Given the description of an element on the screen output the (x, y) to click on. 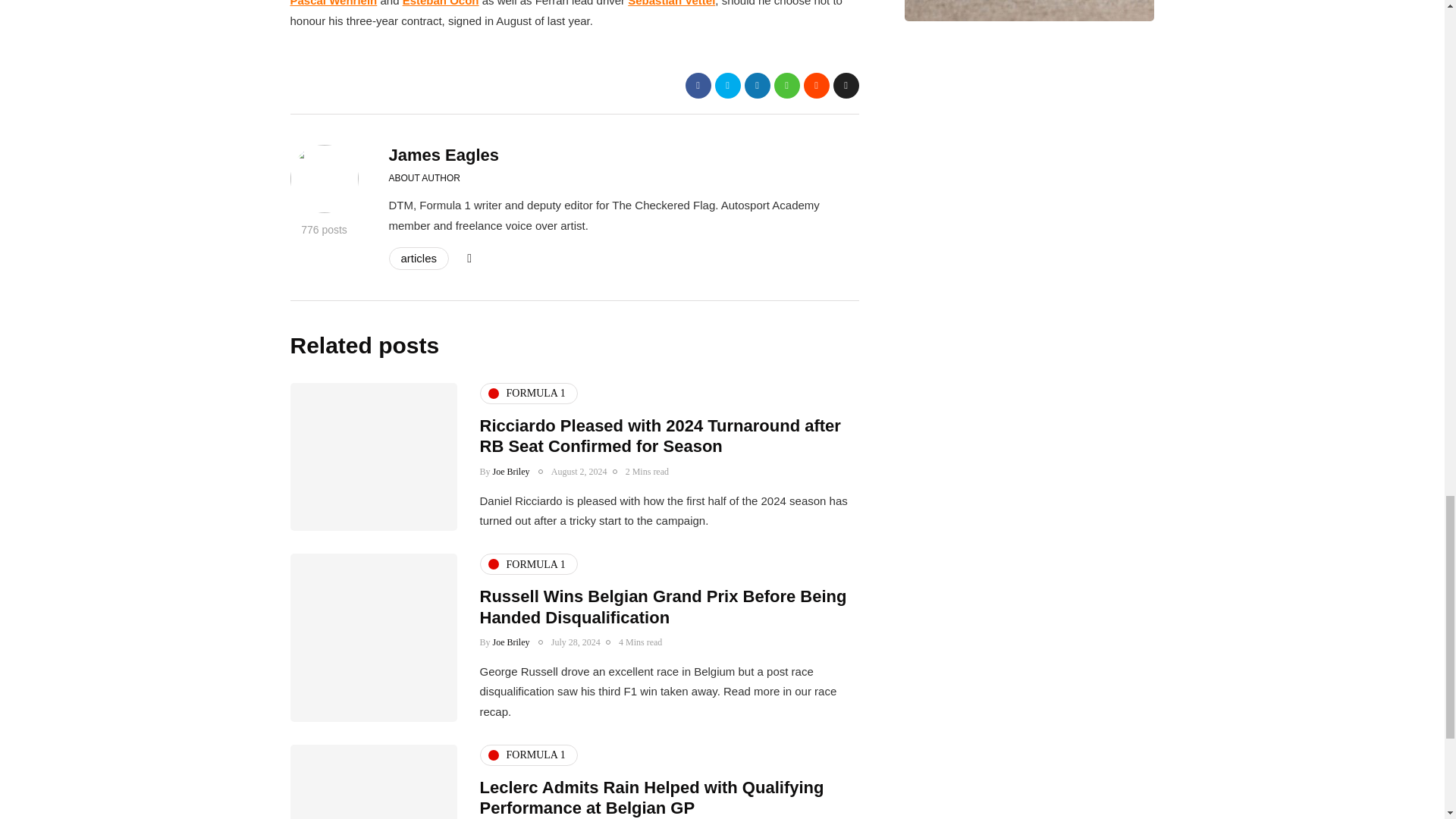
Page 2 (574, 15)
Share to WhatsApp (786, 85)
Share with Facebook (698, 85)
Share on Reddit (816, 85)
Tweet this (726, 85)
Share by Email (845, 85)
Share with LinkedIn (757, 85)
